Given the description of an element on the screen output the (x, y) to click on. 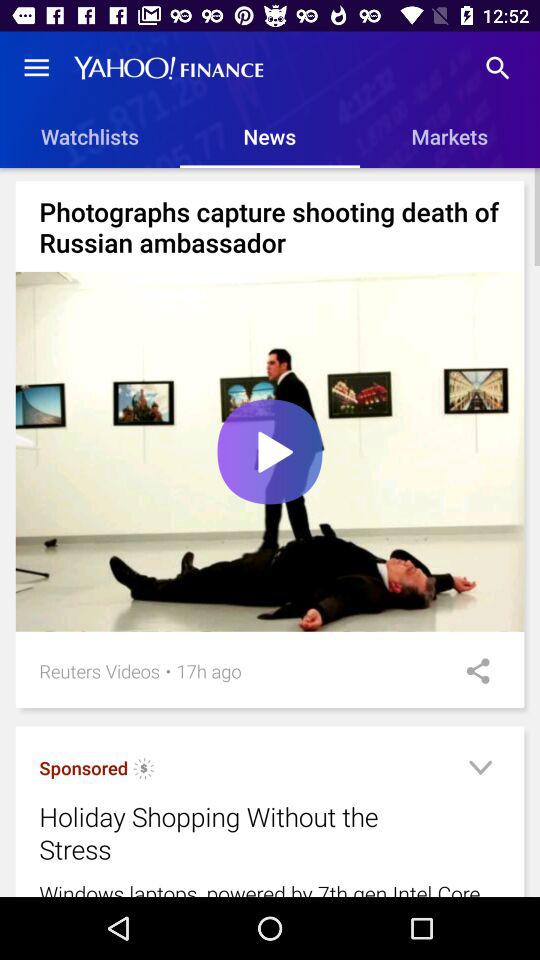
open holiday shopping without icon (244, 833)
